Given the description of an element on the screen output the (x, y) to click on. 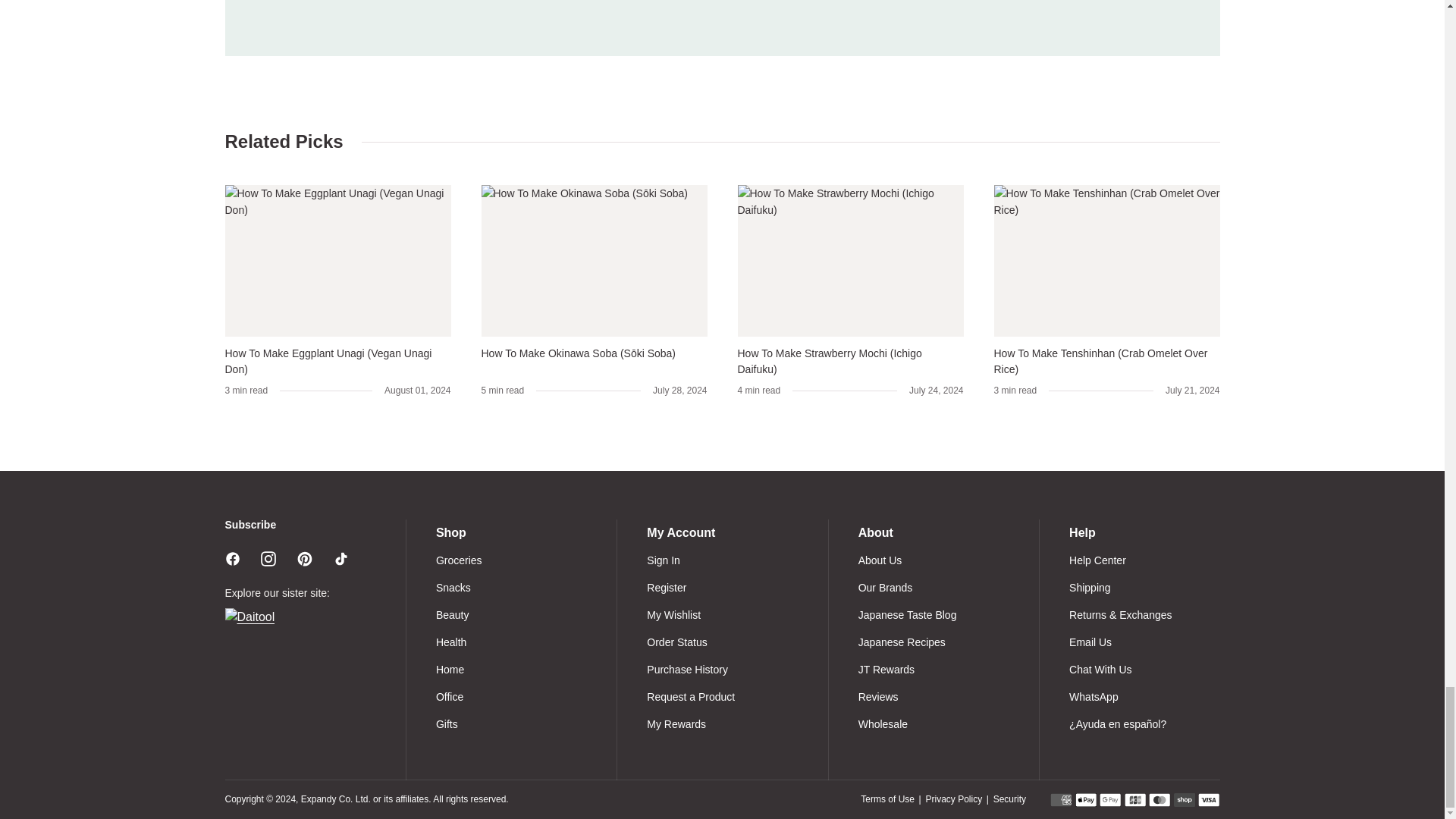
Japanese Taste on TikTok (341, 558)
Japanese Taste on Facebook (232, 558)
Japanese Taste on Instagram (268, 558)
Japanese Taste on Pinterest (305, 558)
